Given the description of an element on the screen output the (x, y) to click on. 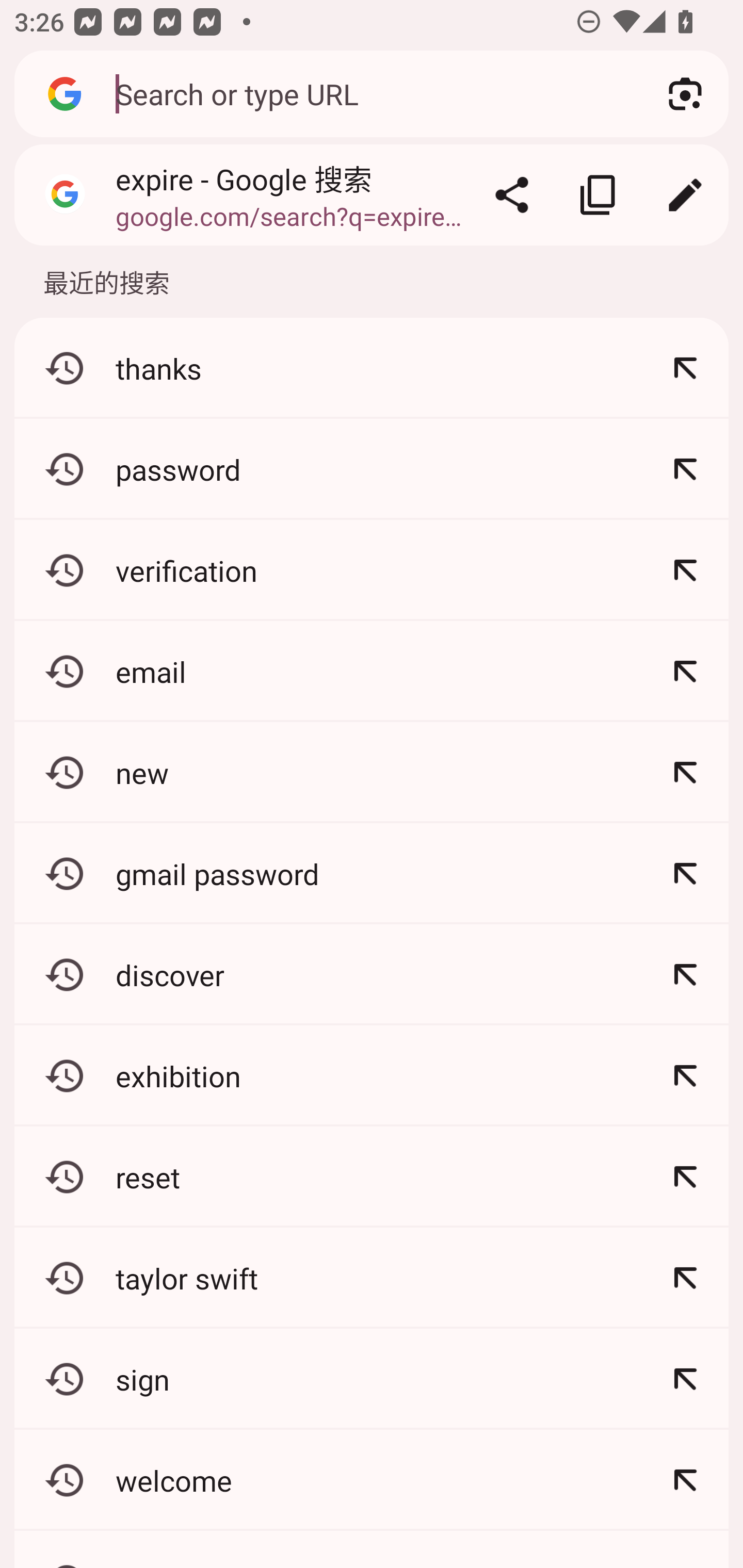
Search with your camera using Google Lens (684, 93)
Search or type URL (367, 92)
Share… (511, 195)
Copy link (598, 195)
Edit (684, 195)
thanks Refine: thanks (371, 368)
Refine: thanks (684, 368)
password Refine: password (371, 469)
Refine: password (684, 469)
verification Refine: verification (371, 570)
Refine: verification (684, 570)
email Refine: email (371, 671)
Refine: email (684, 671)
new Refine: new (371, 772)
Refine: new (684, 772)
gmail password Refine: gmail password (371, 873)
Refine: gmail password (684, 873)
discover Refine: discover (371, 974)
Refine: discover (684, 974)
exhibition Refine: exhibition (371, 1075)
Refine: exhibition (684, 1075)
reset Refine: reset (371, 1176)
Refine: reset (684, 1176)
taylor swift Refine: taylor swift (371, 1277)
Refine: taylor swift (684, 1277)
sign Refine: sign (371, 1379)
Refine: sign (684, 1379)
welcome Refine: welcome (371, 1480)
Refine: welcome (684, 1480)
